Given the description of an element on the screen output the (x, y) to click on. 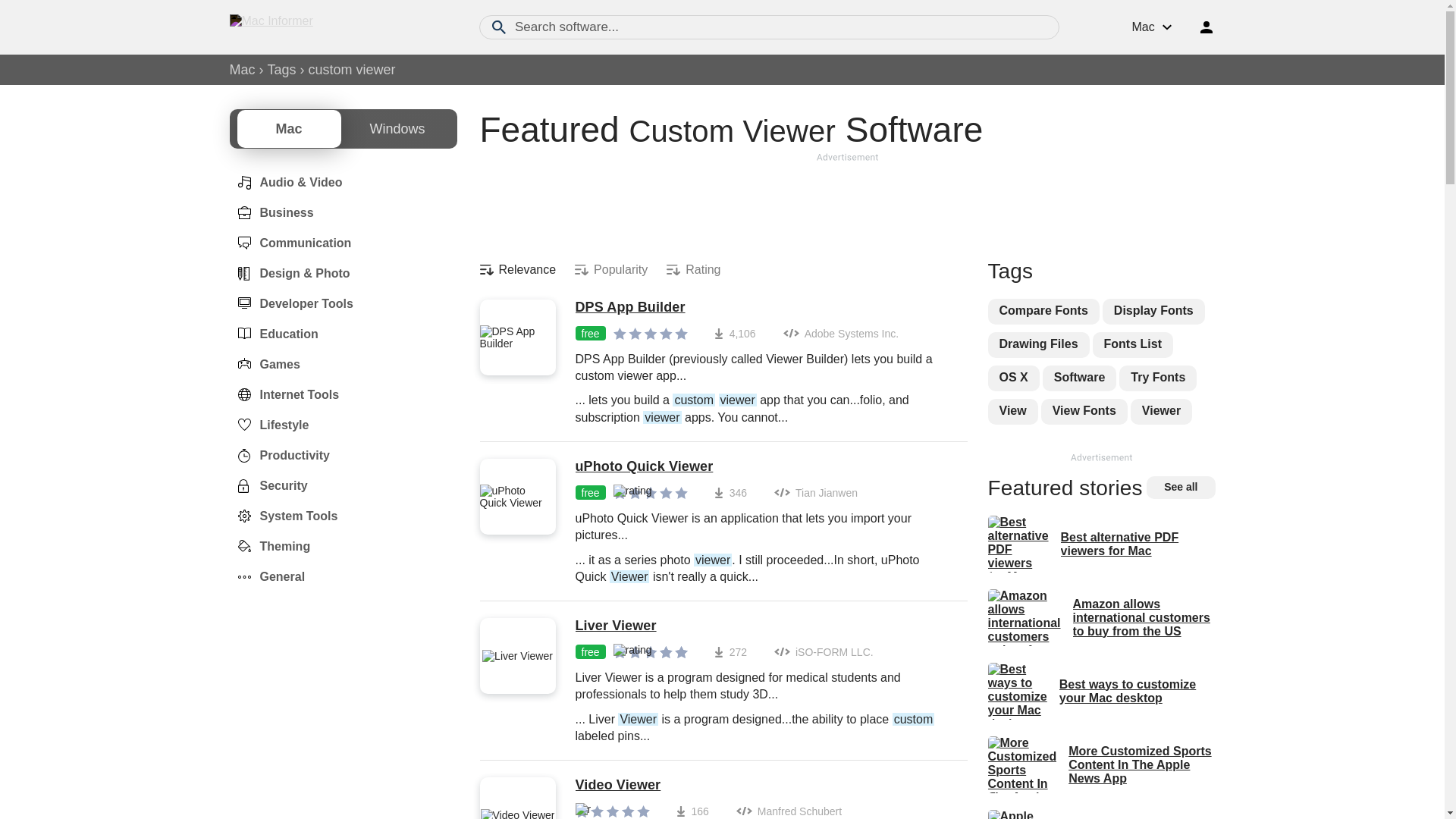
Mac (241, 69)
DPS App Builder (763, 307)
General (266, 576)
Relevance (517, 269)
DPS App Builder (763, 307)
Liver Viewer (763, 626)
Theming (269, 546)
Developer Tools (290, 304)
